Given the description of an element on the screen output the (x, y) to click on. 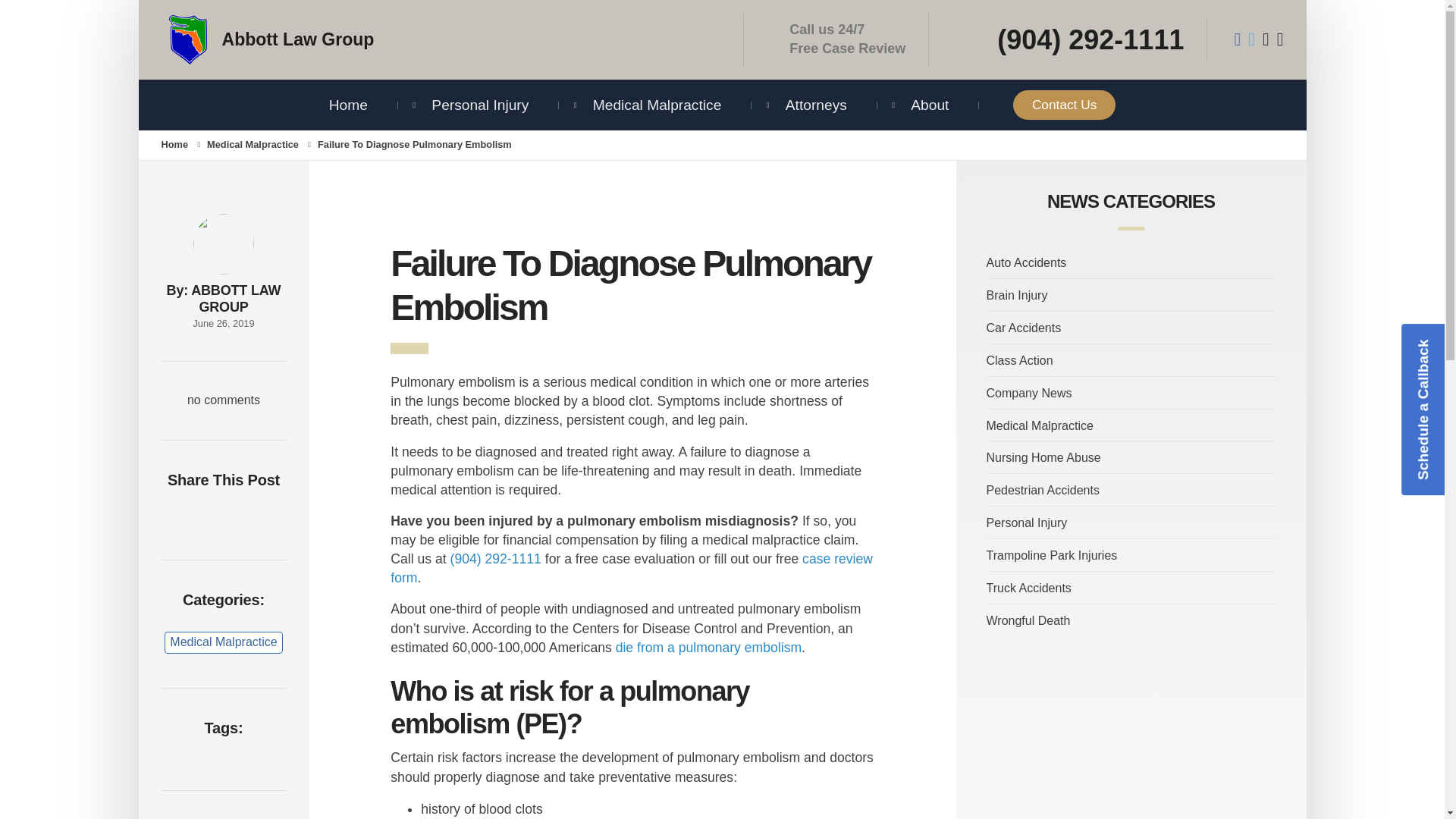
Personal Injury (479, 104)
View all posts in Medical Malpractice (252, 144)
Attorneys (816, 104)
Abbott Law Group (440, 39)
Home (348, 104)
Medical Malpractice (657, 104)
